Given the description of an element on the screen output the (x, y) to click on. 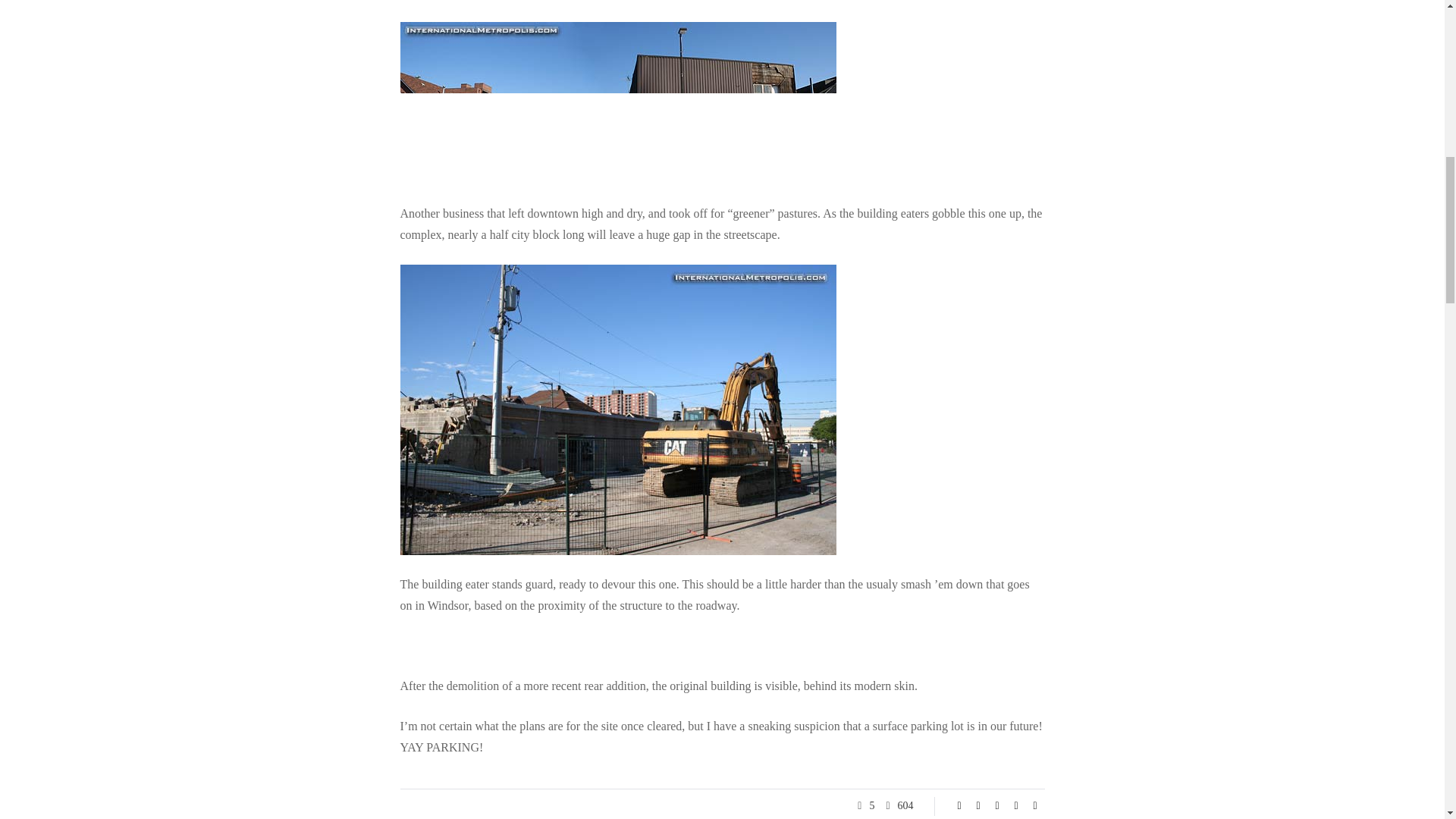
Share with Facebook (958, 806)
Tweet this (978, 806)
Pin this (1016, 806)
Share by Email (1034, 806)
Share with LinkedIn (996, 806)
